Given the description of an element on the screen output the (x, y) to click on. 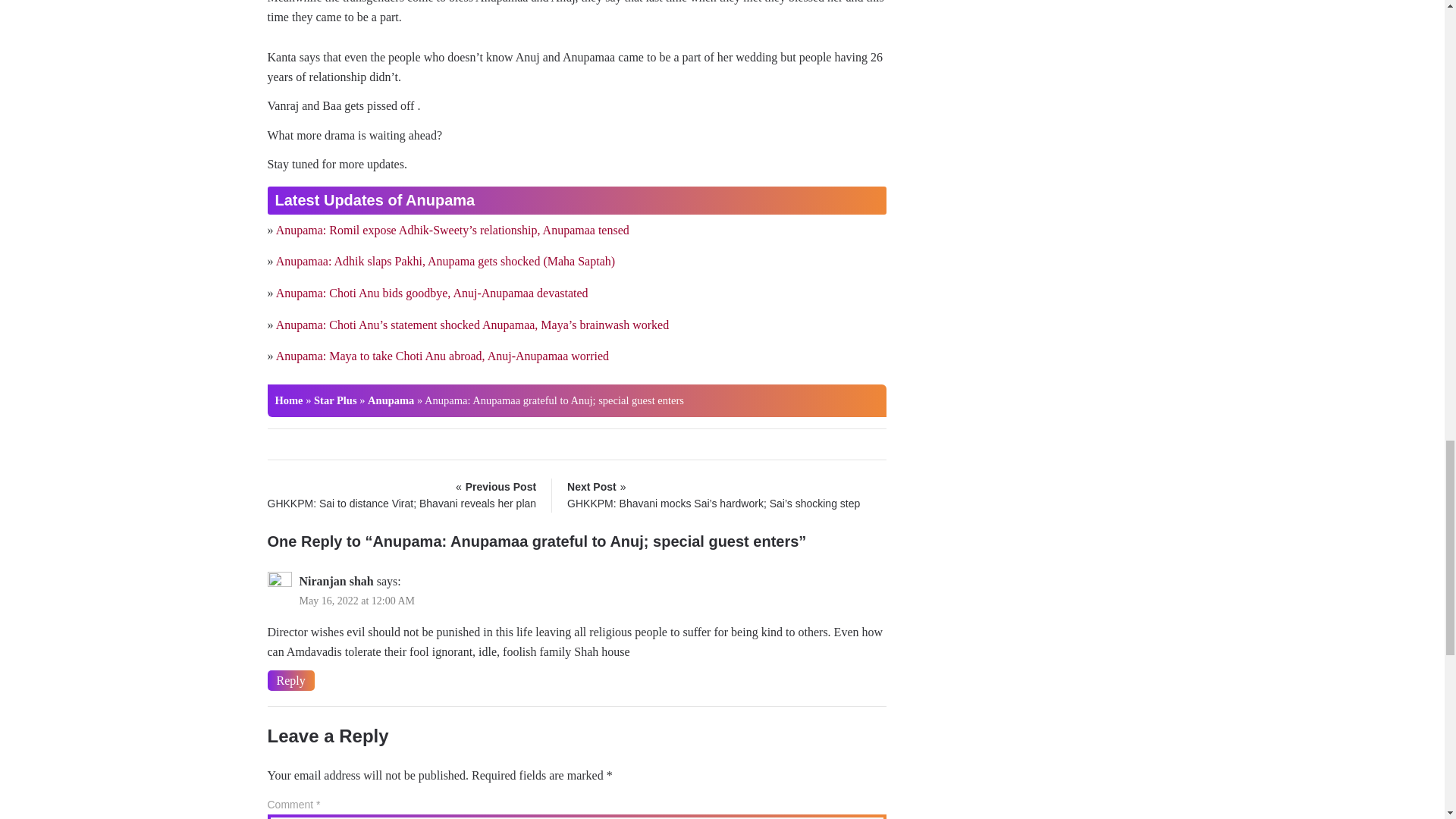
Anupama: Choti Anu bids goodbye, Anuj-Anupamaa devastated (432, 292)
Home (288, 399)
May 16, 2022 at 12:00 AM (355, 600)
Anupama: Choti Anu bids goodbye, Anuj-Anupamaa devastated (432, 292)
Star Plus (335, 399)
Anupama (390, 399)
Reply (290, 680)
